Given the description of an element on the screen output the (x, y) to click on. 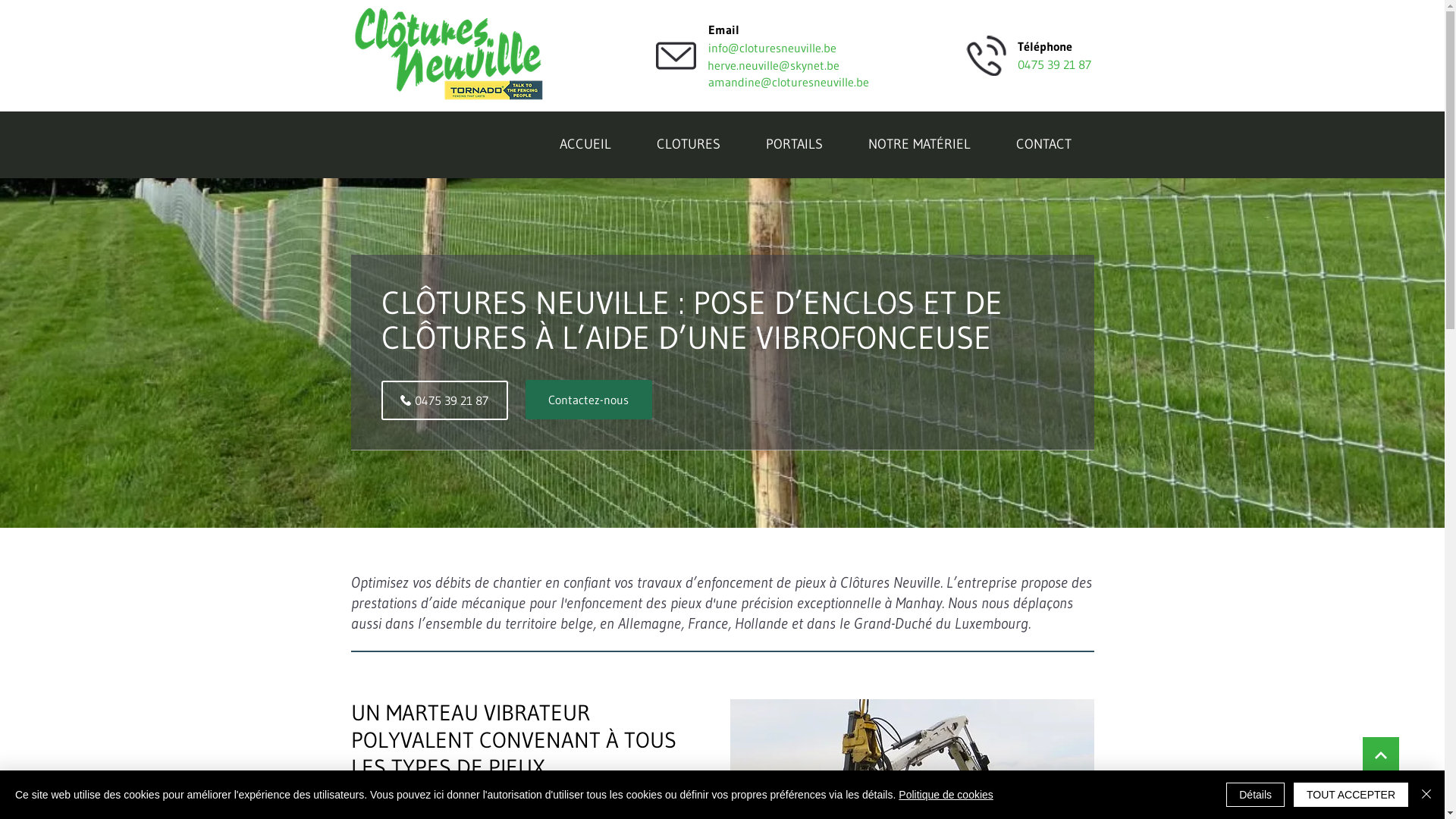
herve.neuville@skynet.be Element type: text (787, 64)
0475 39 21 87 Element type: text (443, 400)
ACCUEIL Element type: text (584, 145)
amandine@cloturesneuville.be Element type: text (789, 81)
info@cloturesneuville.be Element type: text (772, 47)
TOUT ACCEPTER Element type: text (1350, 794)
0475 39 21 87 Element type: text (1054, 64)
CLOTURES Element type: text (688, 145)
CONTACT Element type: text (1043, 145)
Contactez-nous Element type: text (587, 399)
Politique de cookies Element type: text (945, 794)
PORTAILS Element type: text (794, 145)
